Given the description of an element on the screen output the (x, y) to click on. 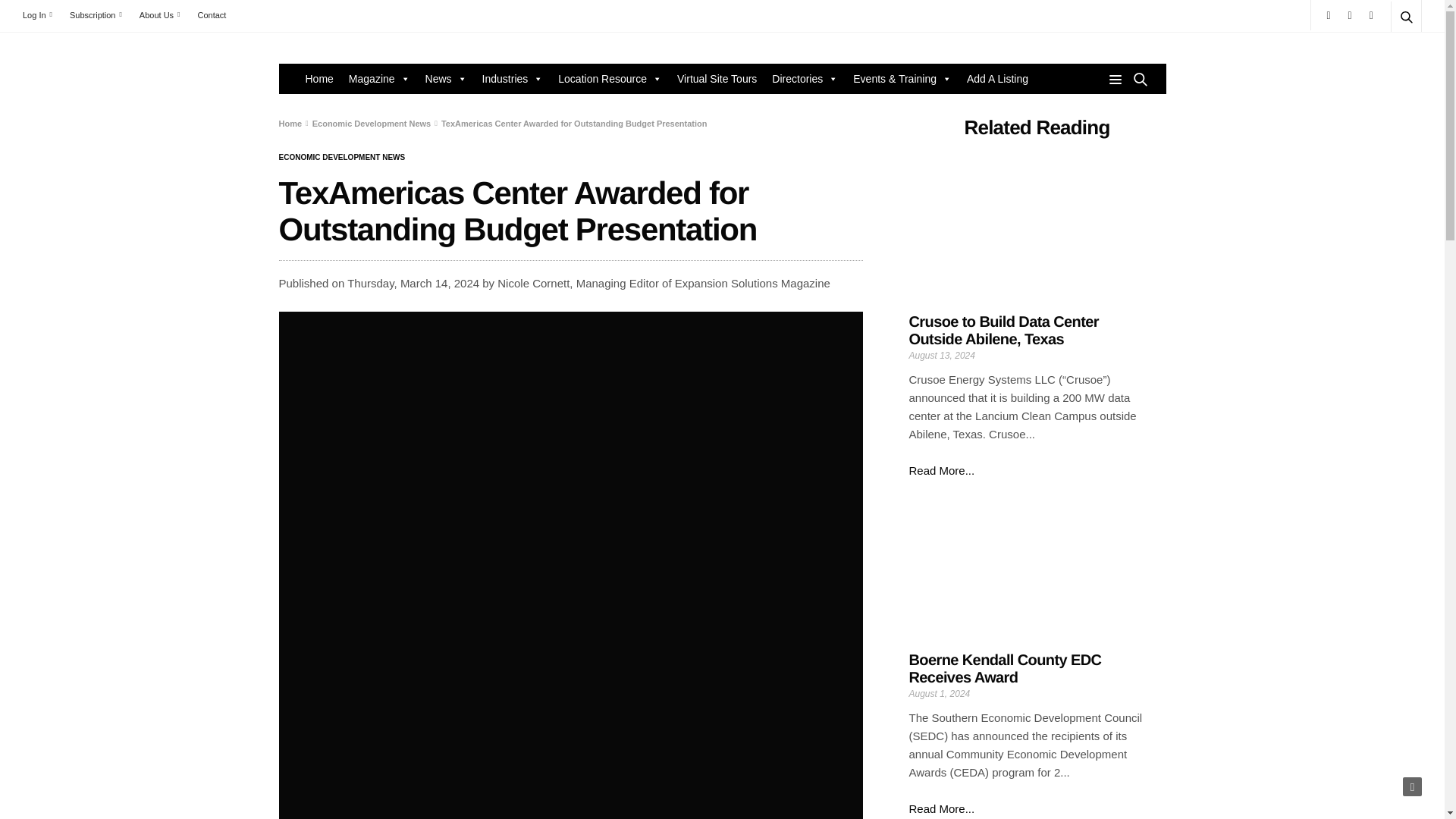
Economic Development News (342, 157)
About Us (159, 15)
Log In (41, 15)
Contact (210, 15)
News (445, 78)
Home (318, 78)
Subscription (95, 15)
Magazine (378, 78)
Search (1386, 53)
